Given the description of an element on the screen output the (x, y) to click on. 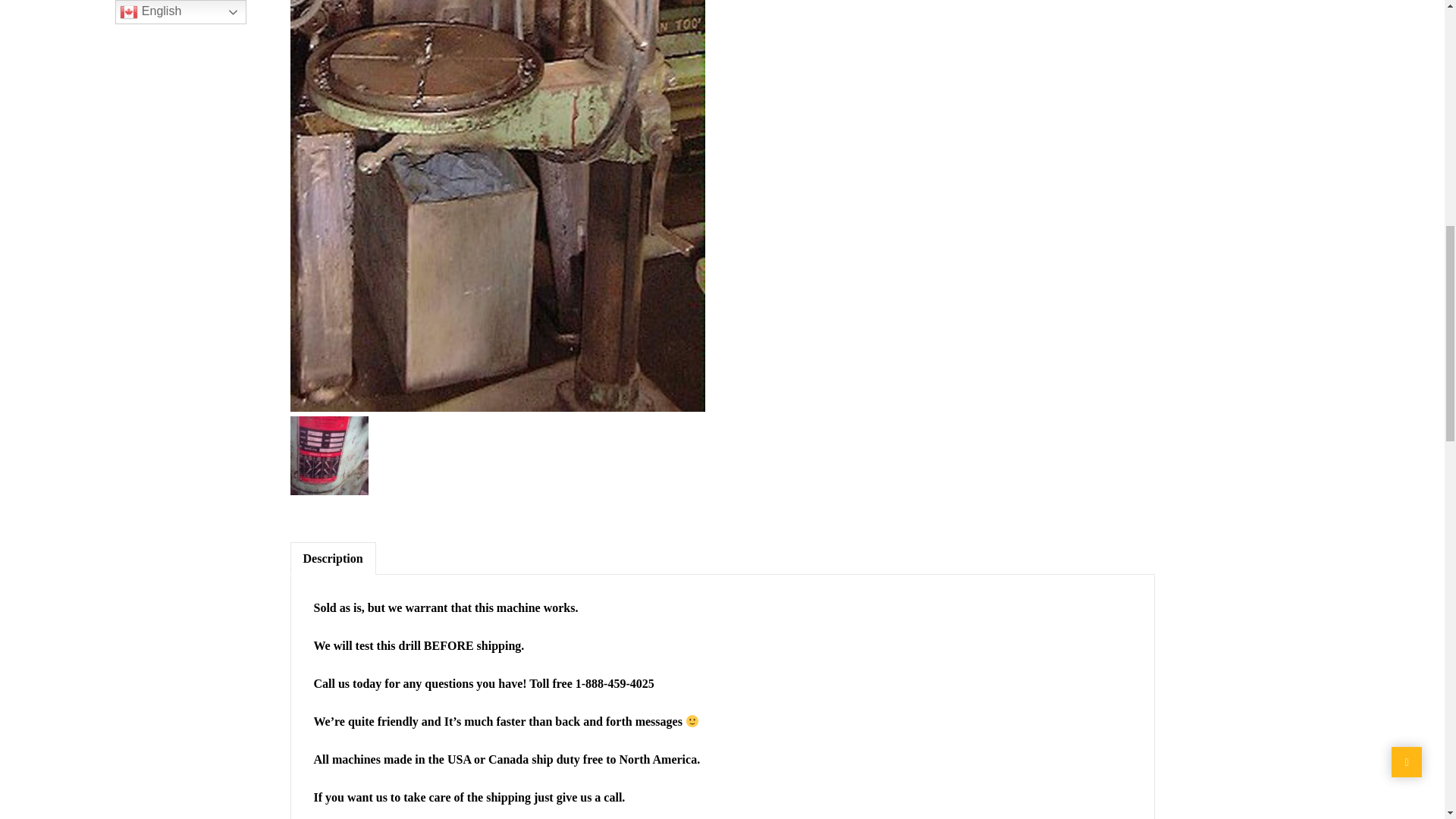
Description (332, 558)
